Given the description of an element on the screen output the (x, y) to click on. 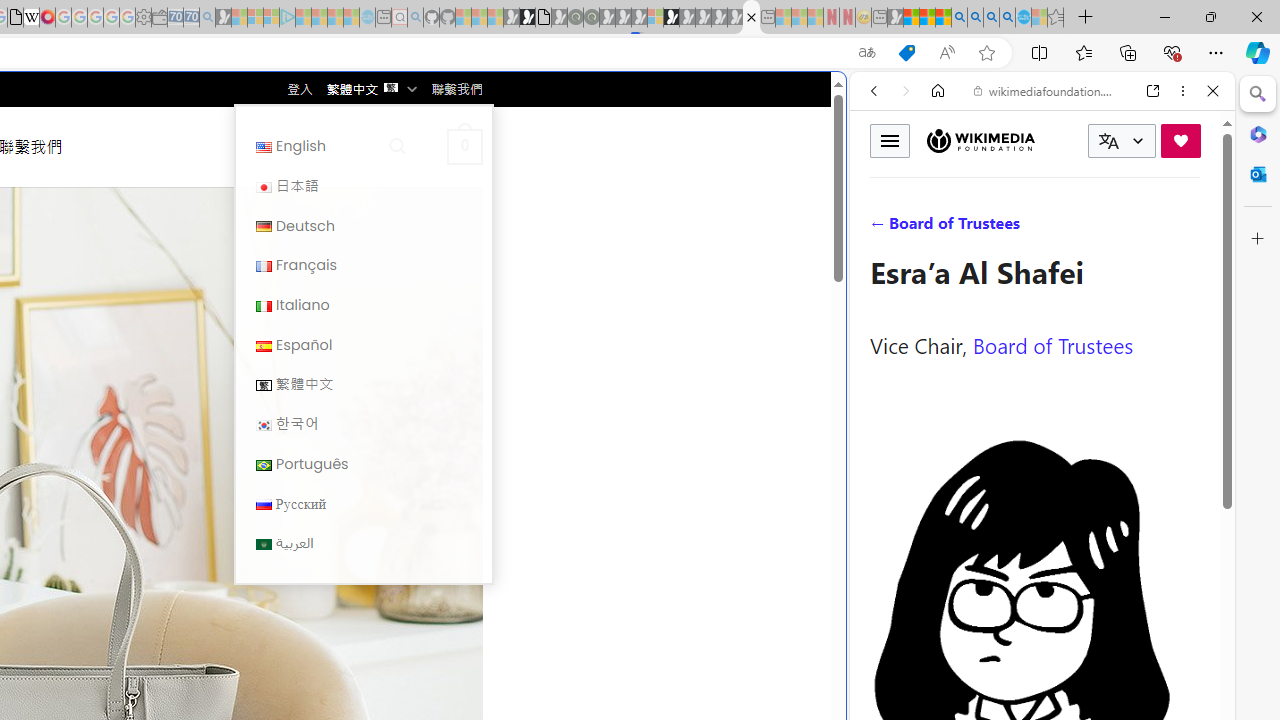
Future Focus Report 2024 - Sleeping (591, 17)
Deutsch (263, 227)
Target page - Wikipedia (31, 17)
